Given the description of an element on the screen output the (x, y) to click on. 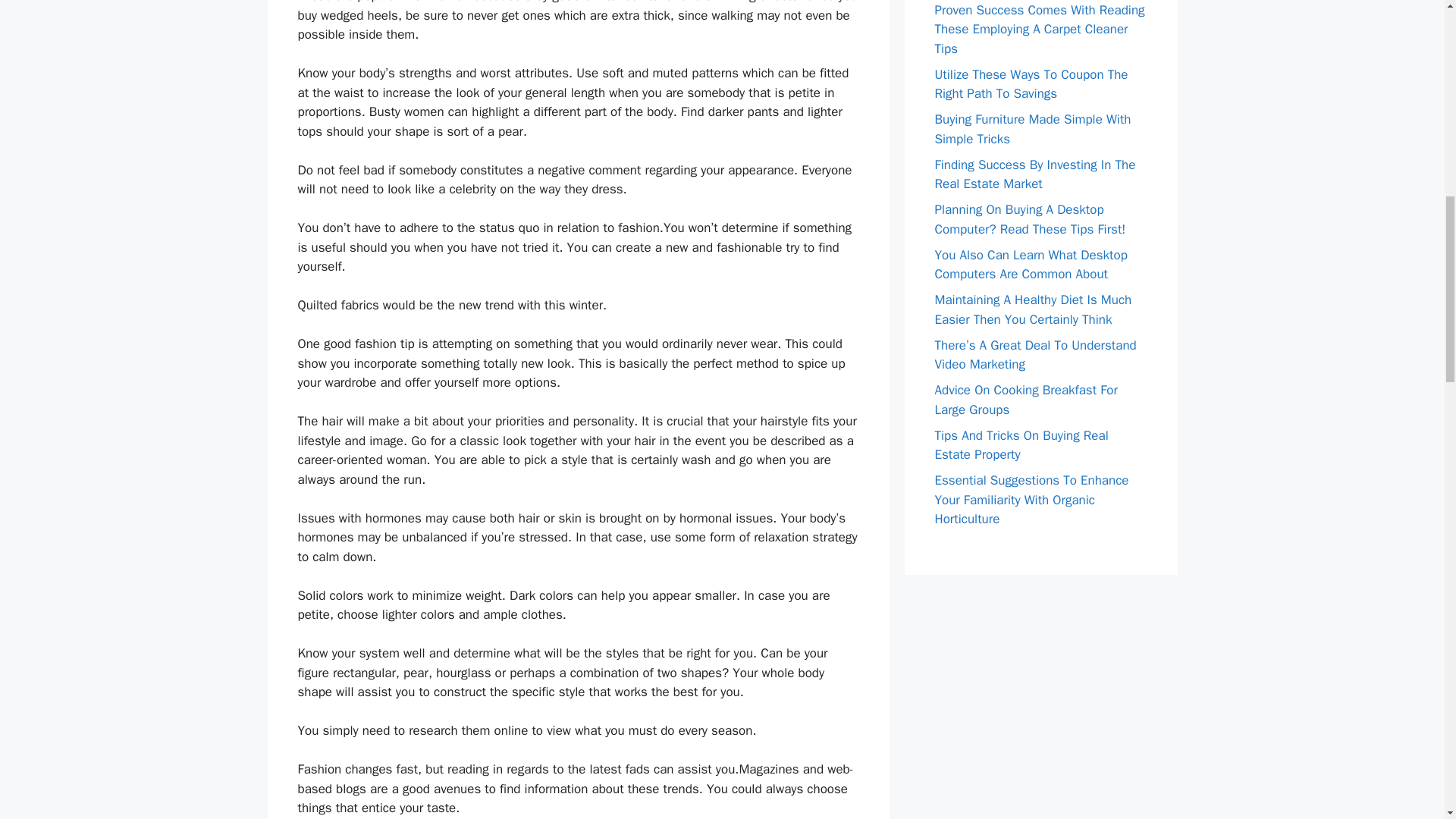
Utilize These Ways To Coupon The Right Path To Savings (1030, 84)
Buying Furniture Made Simple With Simple Tricks (1032, 129)
Finding Success By Investing In The Real Estate Market (1034, 173)
You Also Can Learn What Desktop Computers Are Common About (1030, 264)
